Given the description of an element on the screen output the (x, y) to click on. 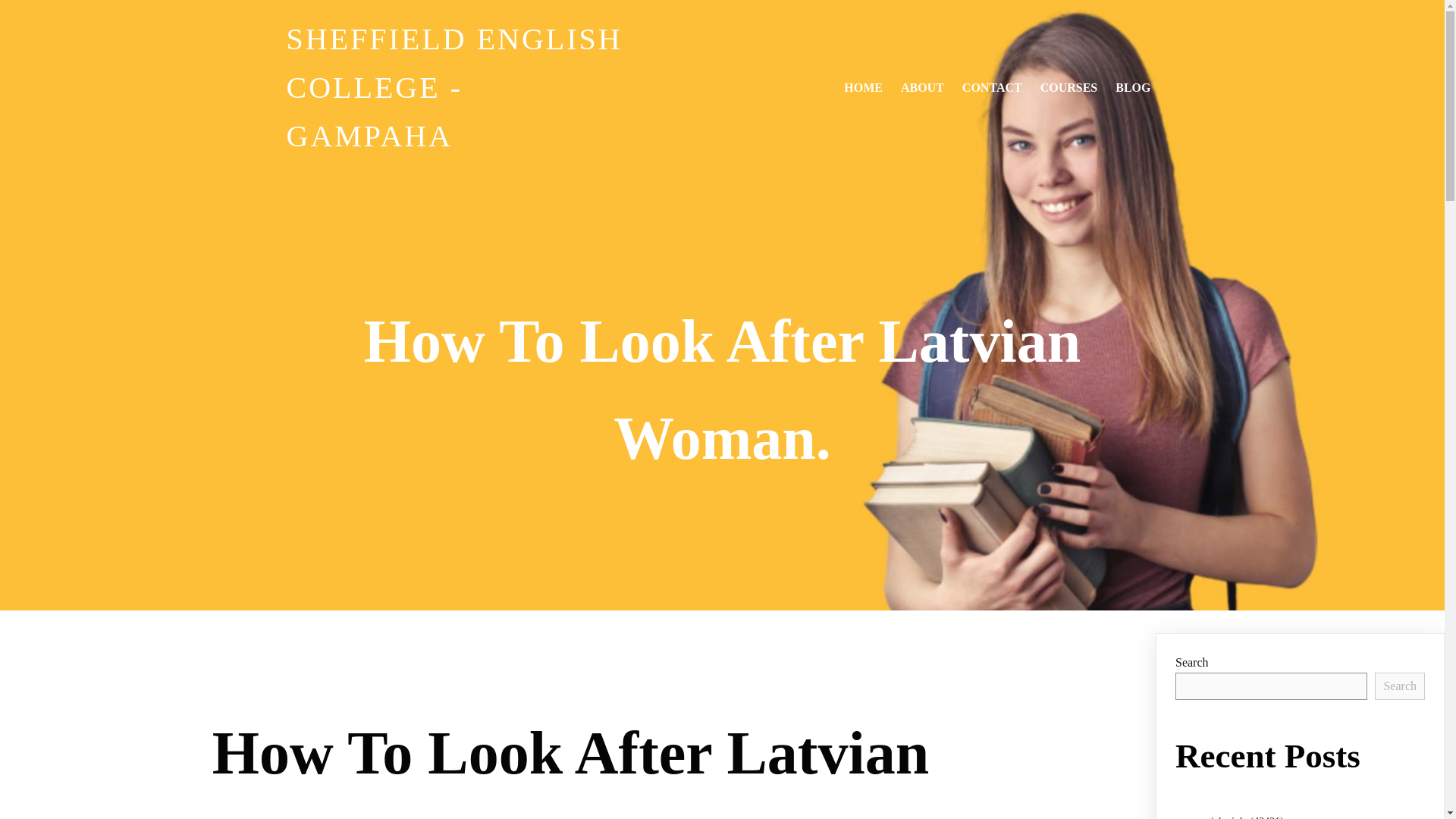
CONTACT (992, 87)
BLOG (1132, 87)
Search (1399, 686)
SHEFFIELD ENGLISH COLLEGE - GAMPAHA (456, 87)
HOME (862, 87)
COURSES (1068, 87)
ABOUT (922, 87)
